Given the description of an element on the screen output the (x, y) to click on. 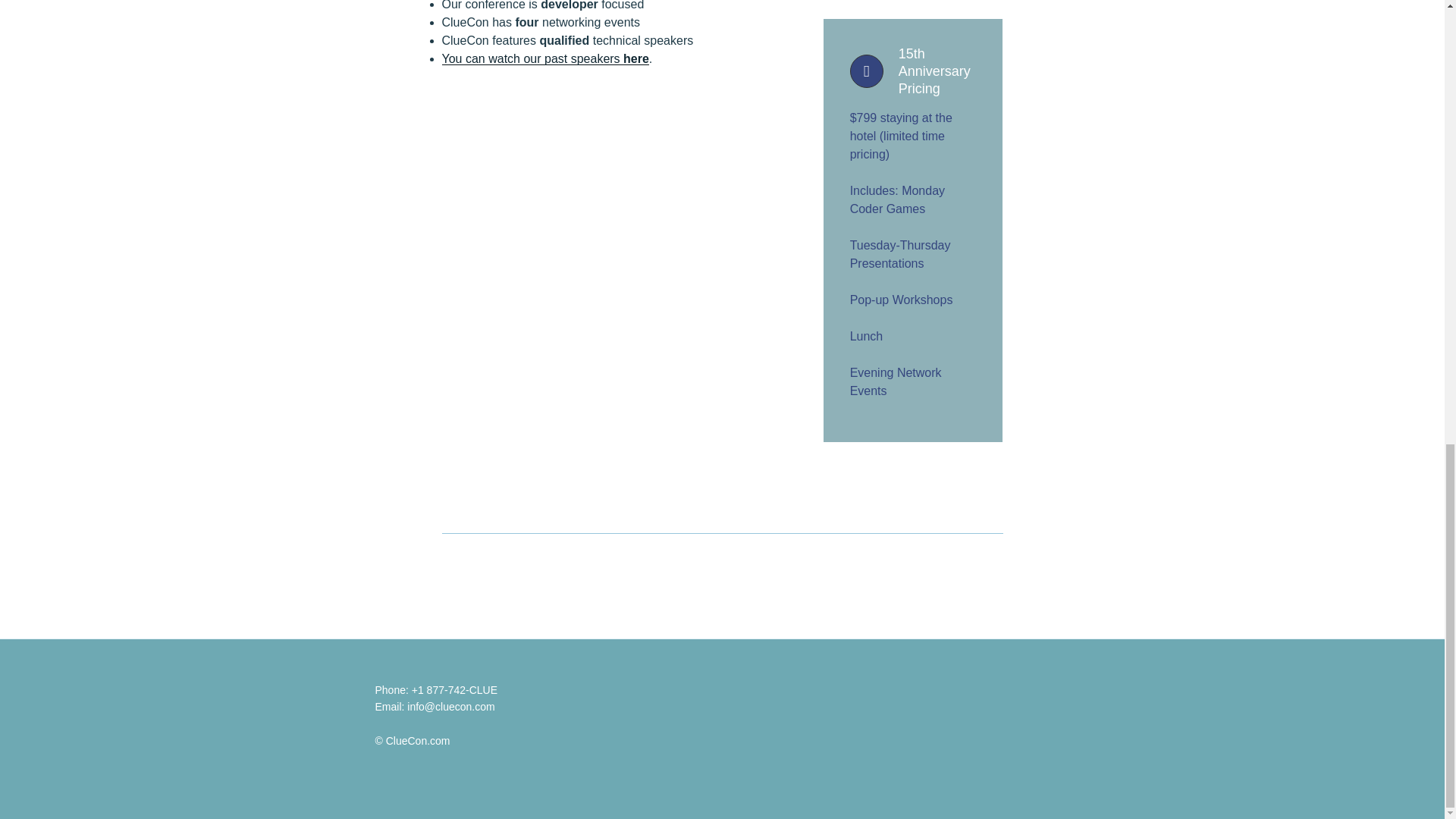
You can watch our past speakers here (544, 58)
